Given the description of an element on the screen output the (x, y) to click on. 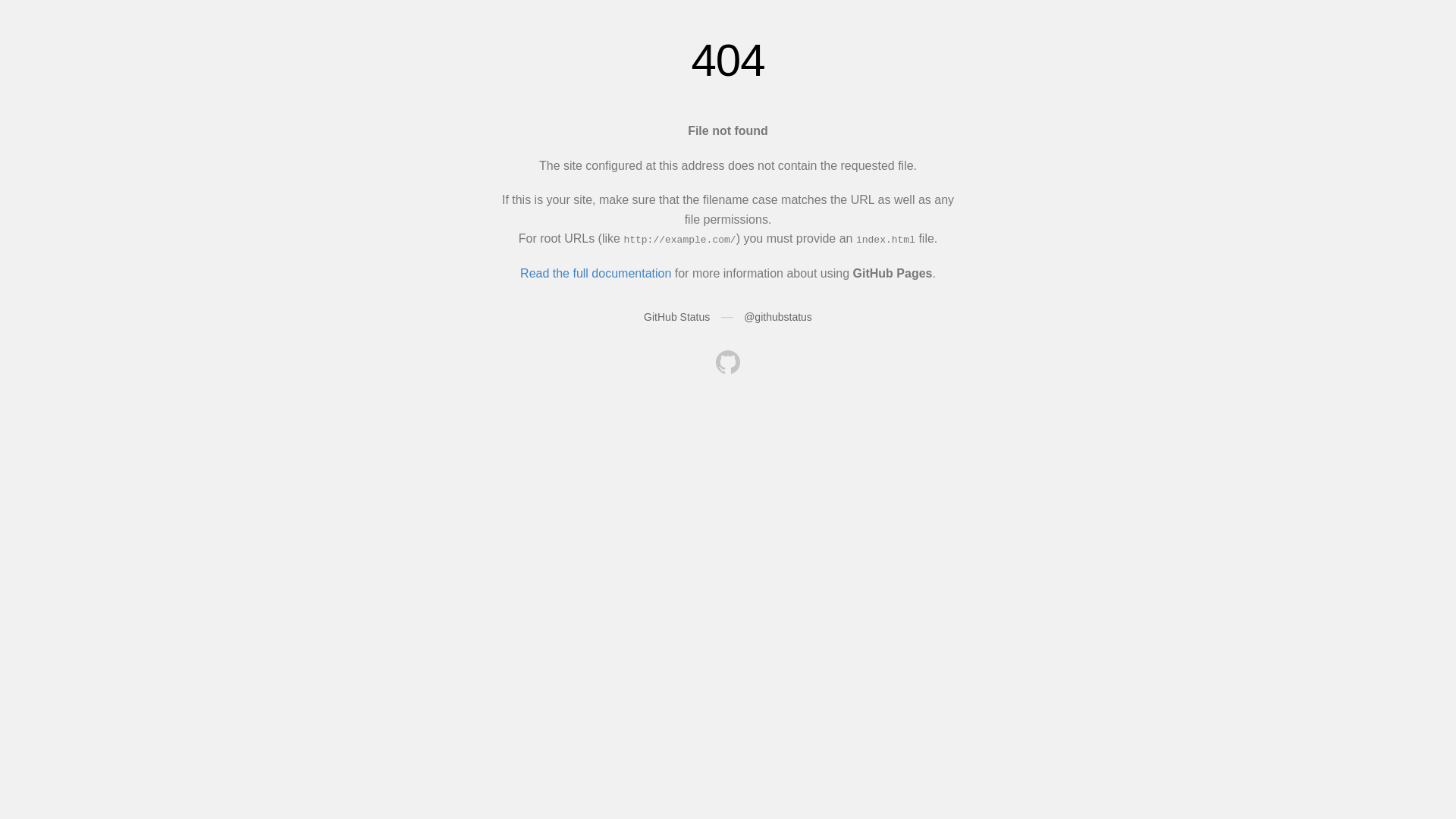
@githubstatus Element type: text (777, 316)
Read the full documentation Element type: text (595, 272)
GitHub Status Element type: text (676, 316)
